Given the description of an element on the screen output the (x, y) to click on. 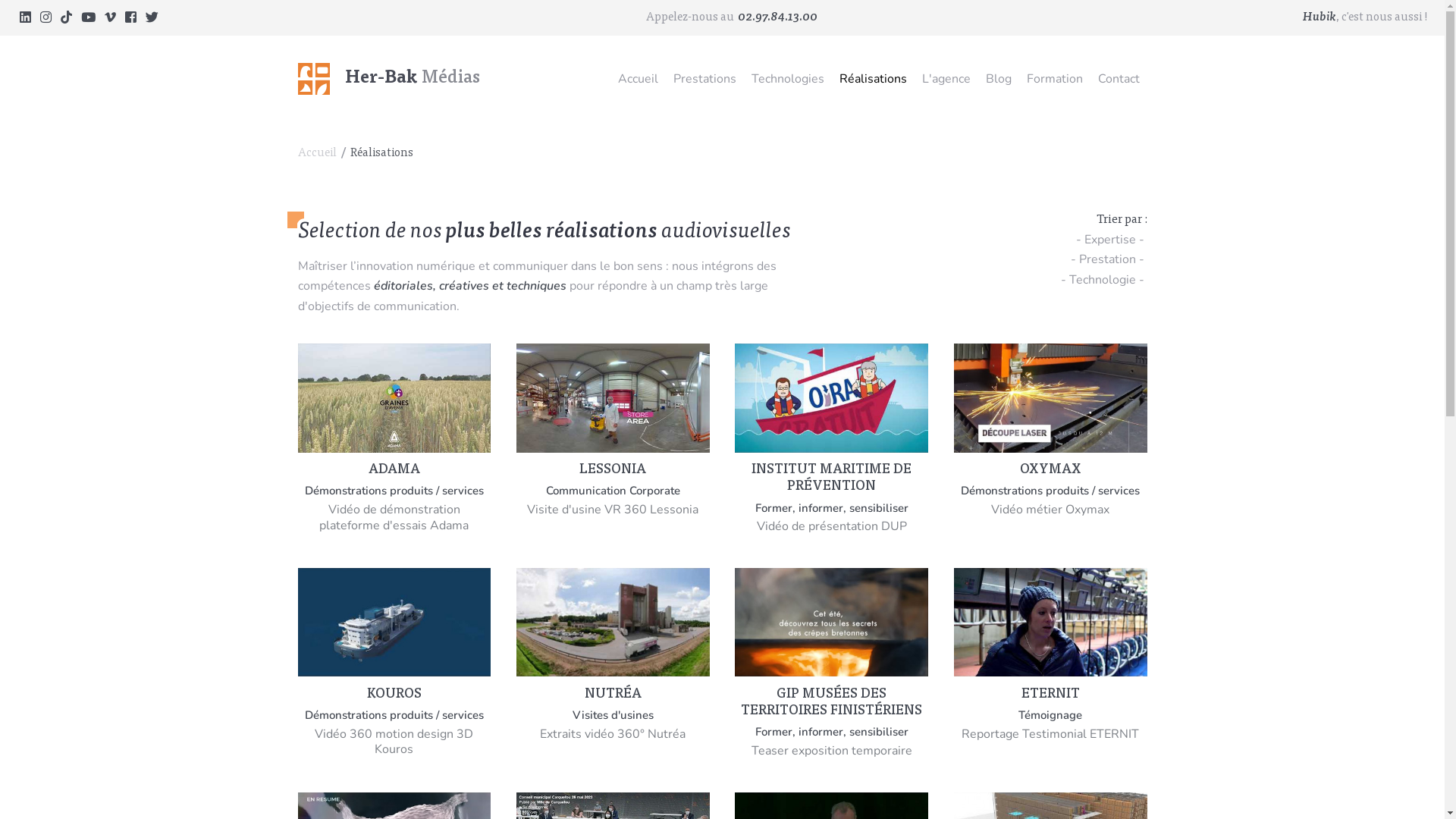
Technologies Element type: text (787, 78)
Retrouvez nous sur Youtube Element type: hover (88, 16)
Retrouvez nous sur Twitter Element type: hover (151, 16)
Retrouvez nous sur Instagram Element type: hover (45, 16)
Retrouvez nous sur Linkedin Element type: hover (25, 16)
L'agence Element type: text (946, 78)
Retrouvez nous sur Facebook Element type: hover (130, 16)
Retrouvez nous sur Vimeo Element type: hover (110, 16)
02.97.84.13.00 Element type: text (776, 17)
Accueil Element type: text (317, 153)
Blog Element type: text (998, 78)
Contact Element type: text (1118, 78)
Formation Element type: text (1054, 78)
Retrouvez nous sur TikTok Element type: hover (66, 16)
Accueil Element type: text (637, 78)
Prestations Element type: text (704, 78)
Hubik Element type: text (1319, 17)
